Given the description of an element on the screen output the (x, y) to click on. 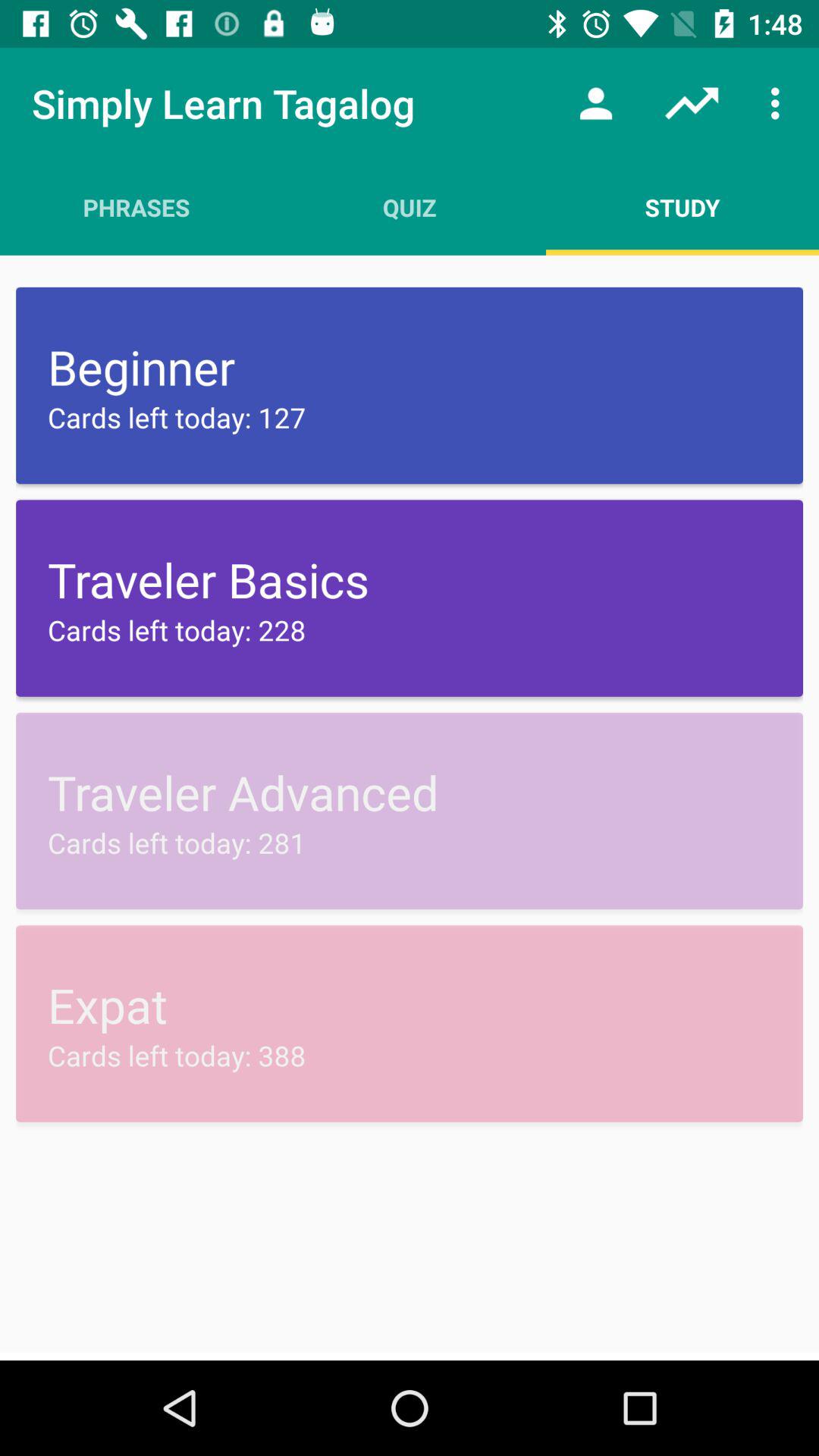
press icon above study icon (779, 103)
